Given the description of an element on the screen output the (x, y) to click on. 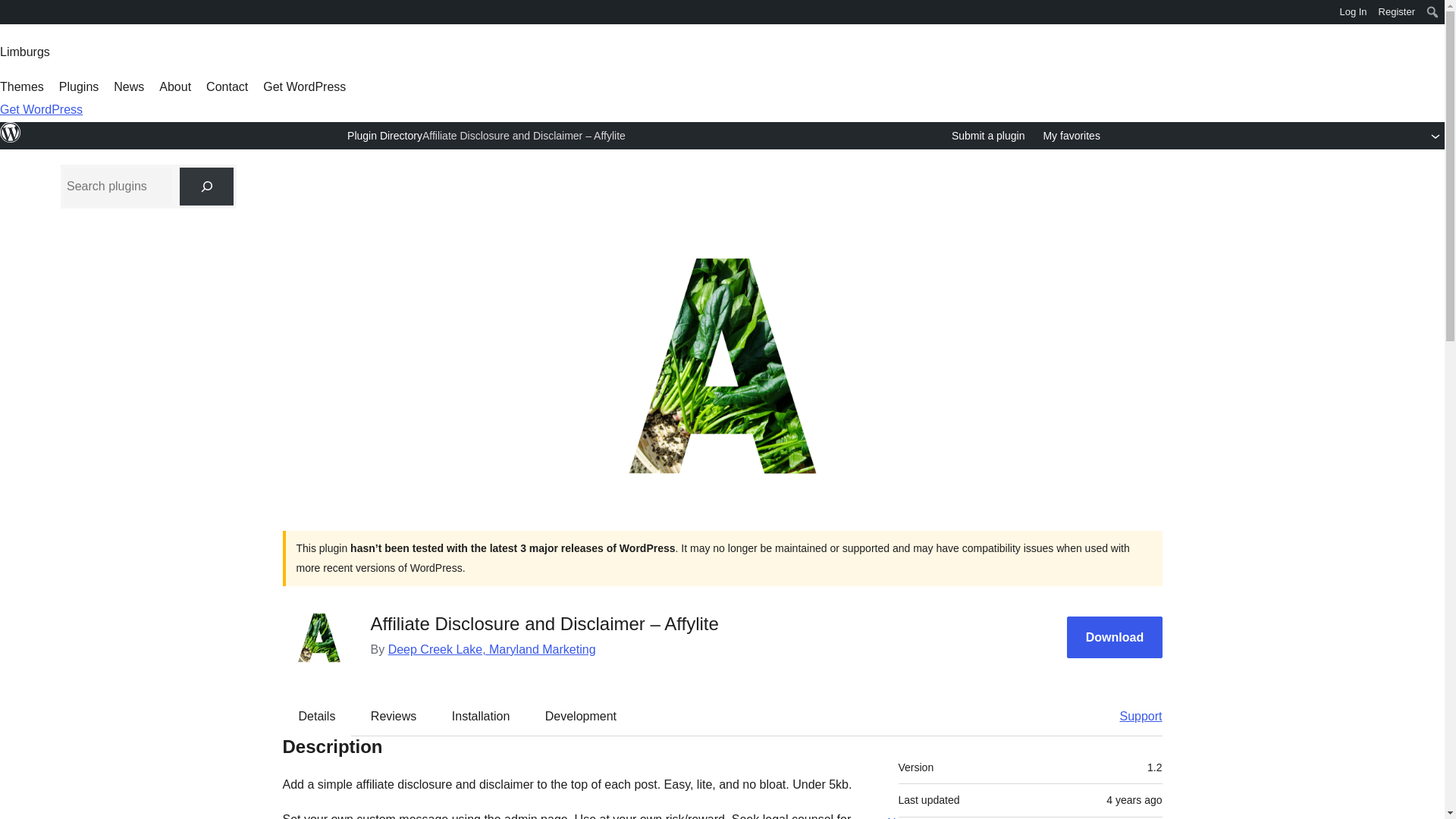
Contact (226, 87)
Deep Creek Lake, Maryland Marketing (491, 649)
News (128, 87)
Development (580, 716)
Get WordPress (304, 87)
Plugins (79, 87)
WordPress.org (10, 139)
Reviews (392, 716)
WordPress.org (10, 132)
Log In (1353, 12)
